Given the description of an element on the screen output the (x, y) to click on. 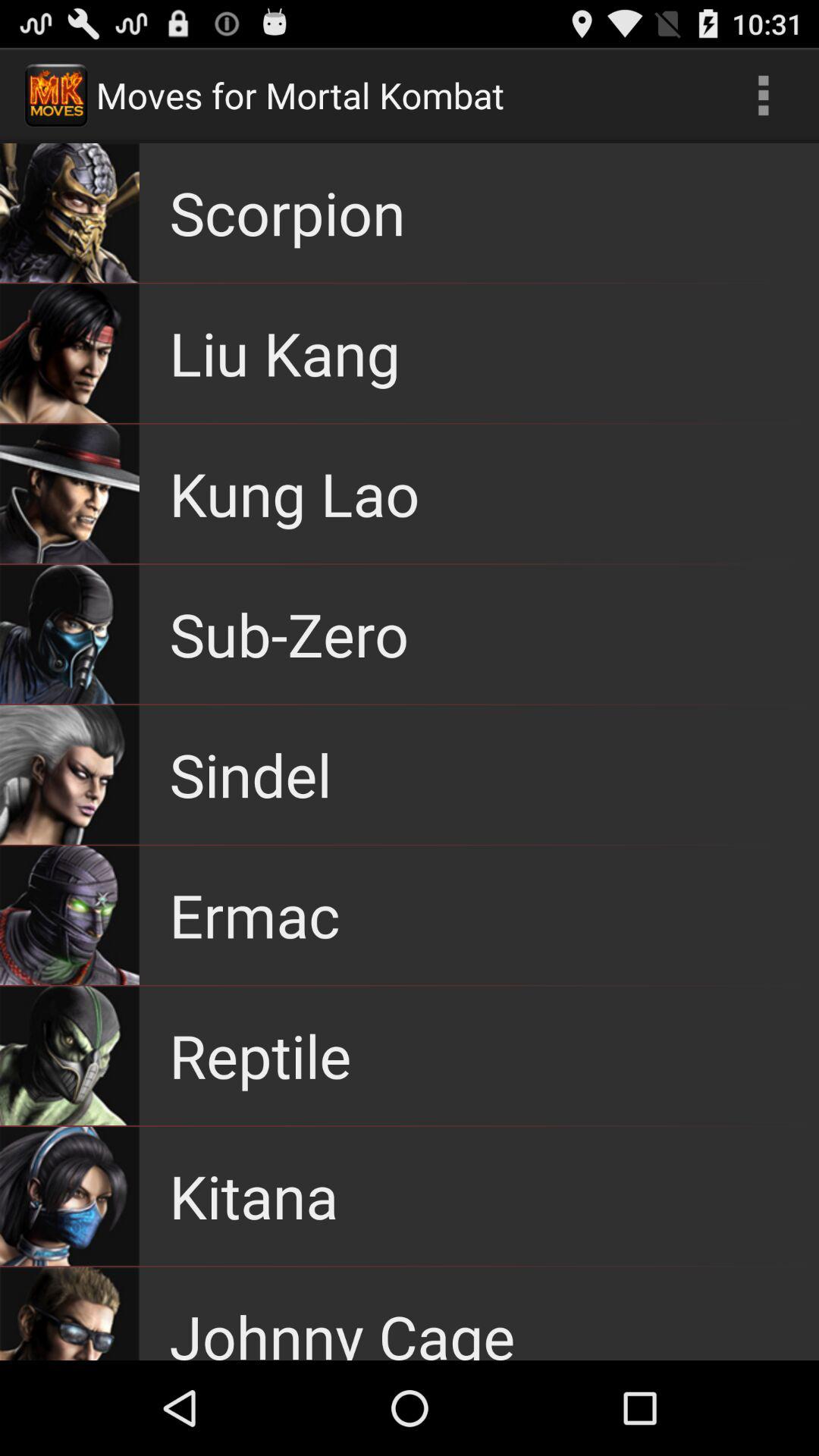
press the app below kitana app (342, 1328)
